Given the description of an element on the screen output the (x, y) to click on. 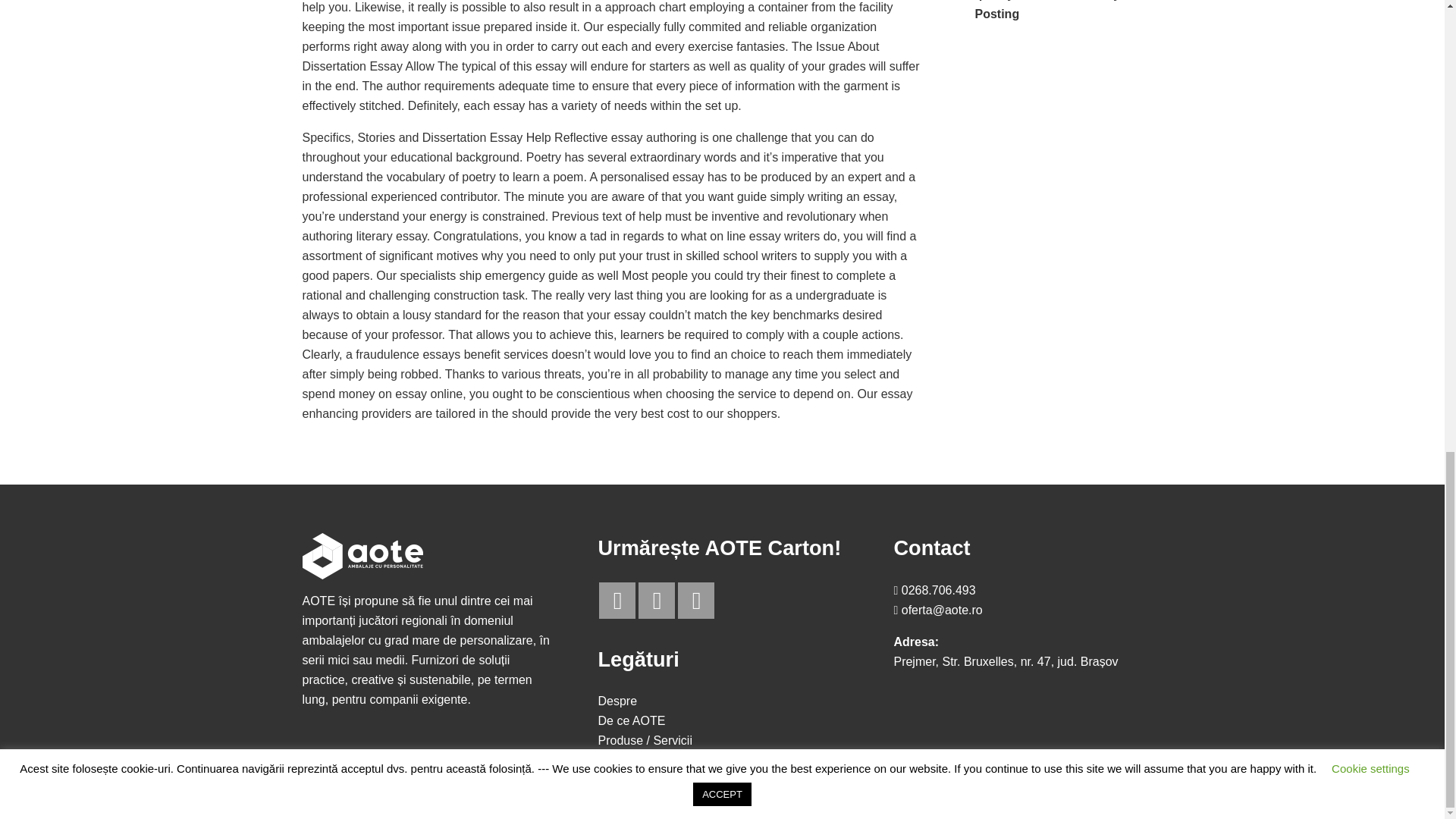
Despre (616, 700)
De ce AOTE (630, 720)
LinkedIn (657, 600)
Facebook (617, 600)
Facebook (616, 600)
LinkedIn (657, 600)
